Given the description of an element on the screen output the (x, y) to click on. 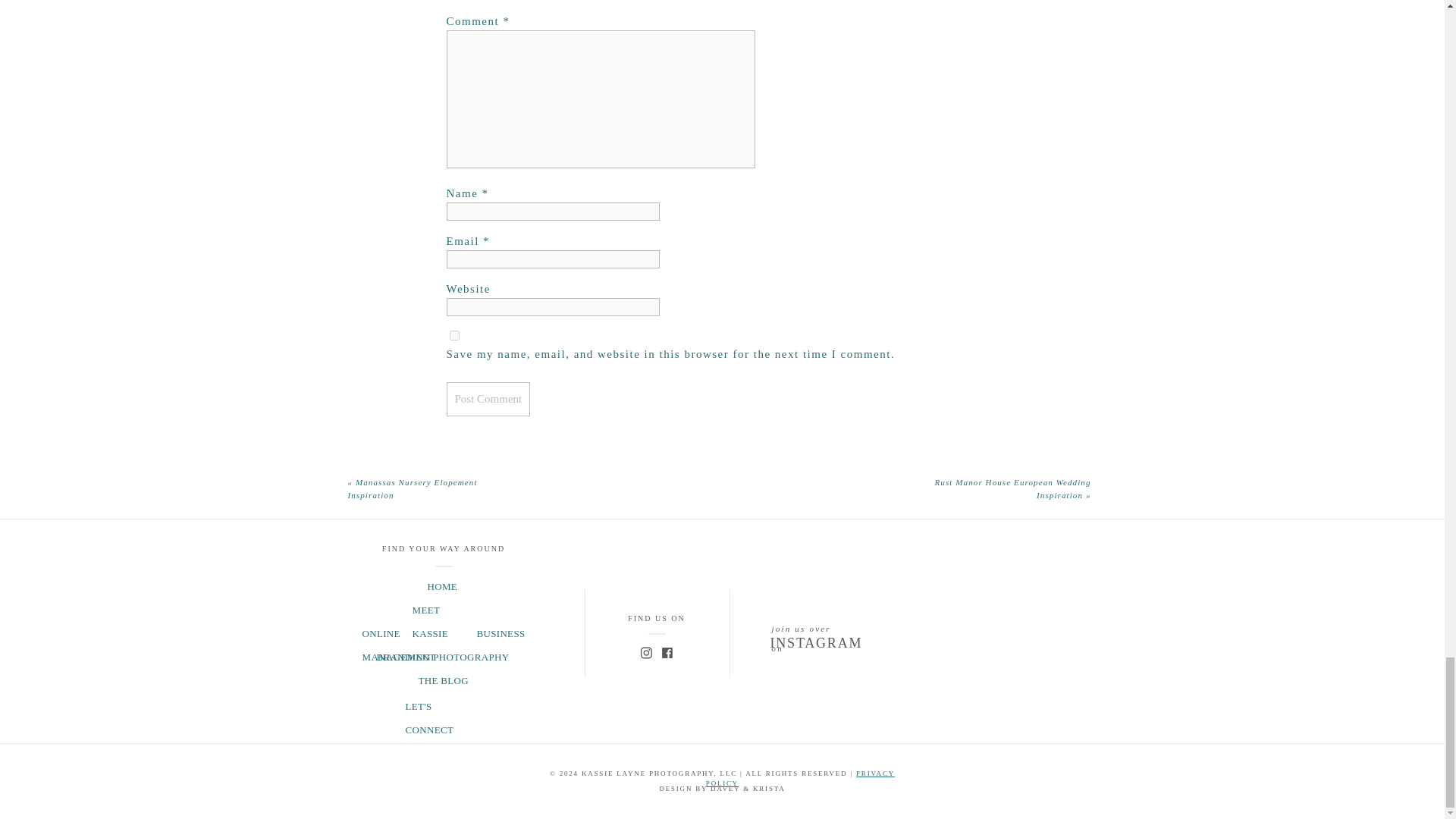
Facebook Copy-color Created with Sketch. (666, 653)
BRANDING PHOTOGRAPHY (443, 655)
PRIVACY POLICY (800, 778)
Instagram-color Created with Sketch. (646, 653)
INSTAGRAM (820, 641)
Instagram-color Created with Sketch. (646, 653)
Post Comment (487, 399)
join us over on (807, 624)
Rust Manor House European Wedding Inspiration (1012, 488)
Post Comment (487, 399)
ONLINE BUSINESS MANAGEMENT (443, 631)
MEET KASSIE (444, 608)
LET'S CONNECT (442, 705)
Posts from Instagram (1078, 645)
yes (453, 335)
